Given the description of an element on the screen output the (x, y) to click on. 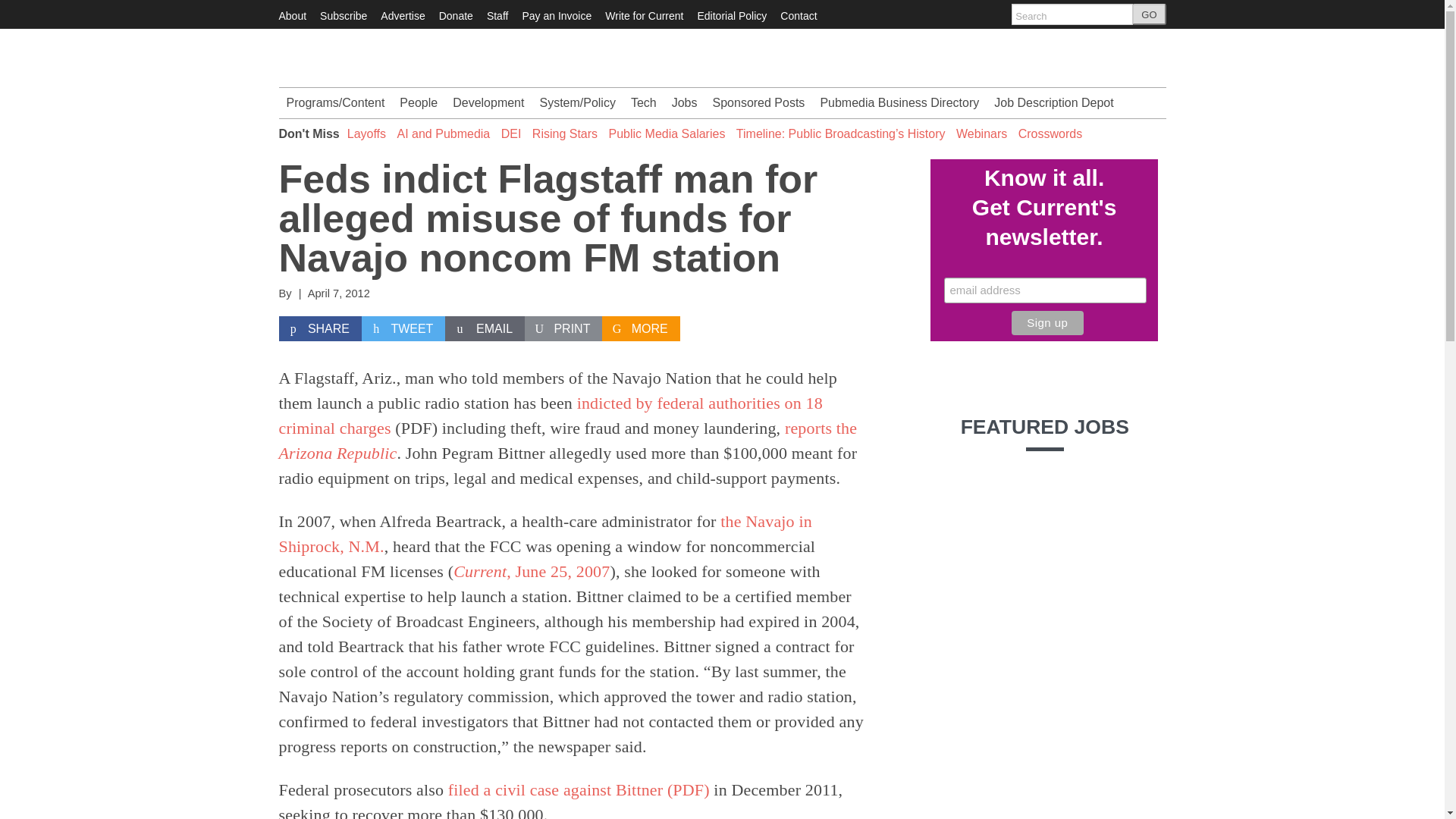
About (293, 15)
Subscribe (343, 15)
Print this article (563, 329)
Staff (497, 15)
Development (488, 102)
People (418, 102)
Pay an Invoice (556, 15)
Donate (456, 15)
Sign up (1047, 322)
Advertise (402, 15)
Editorial Policy (732, 15)
Contact (798, 15)
GO (1149, 14)
Write for Current (643, 15)
